Given the description of an element on the screen output the (x, y) to click on. 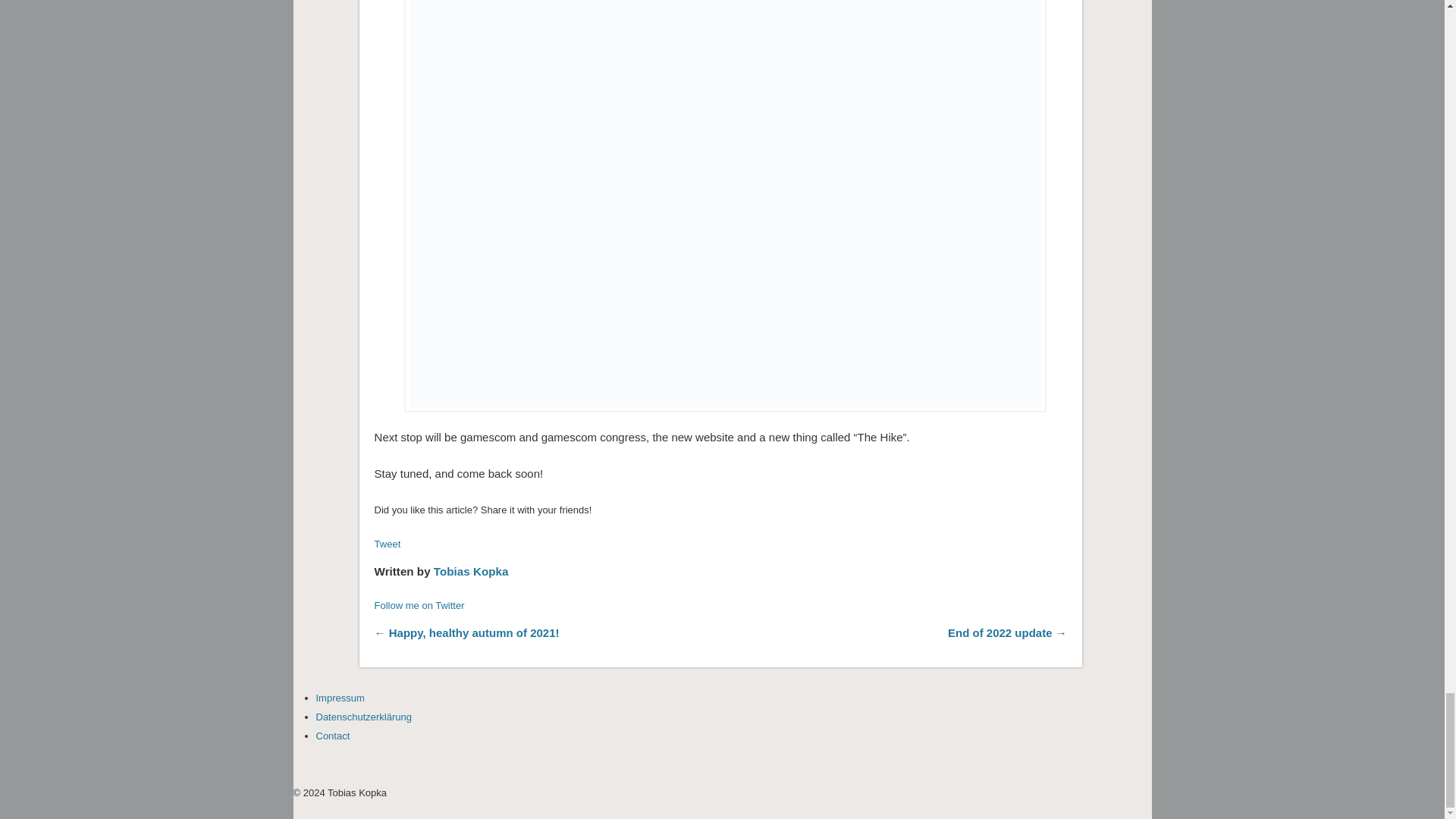
Contact (332, 736)
Impressum (339, 697)
Follow me on Twitter (419, 604)
Tobias Kopka (470, 571)
Tweet (387, 543)
